Given the description of an element on the screen output the (x, y) to click on. 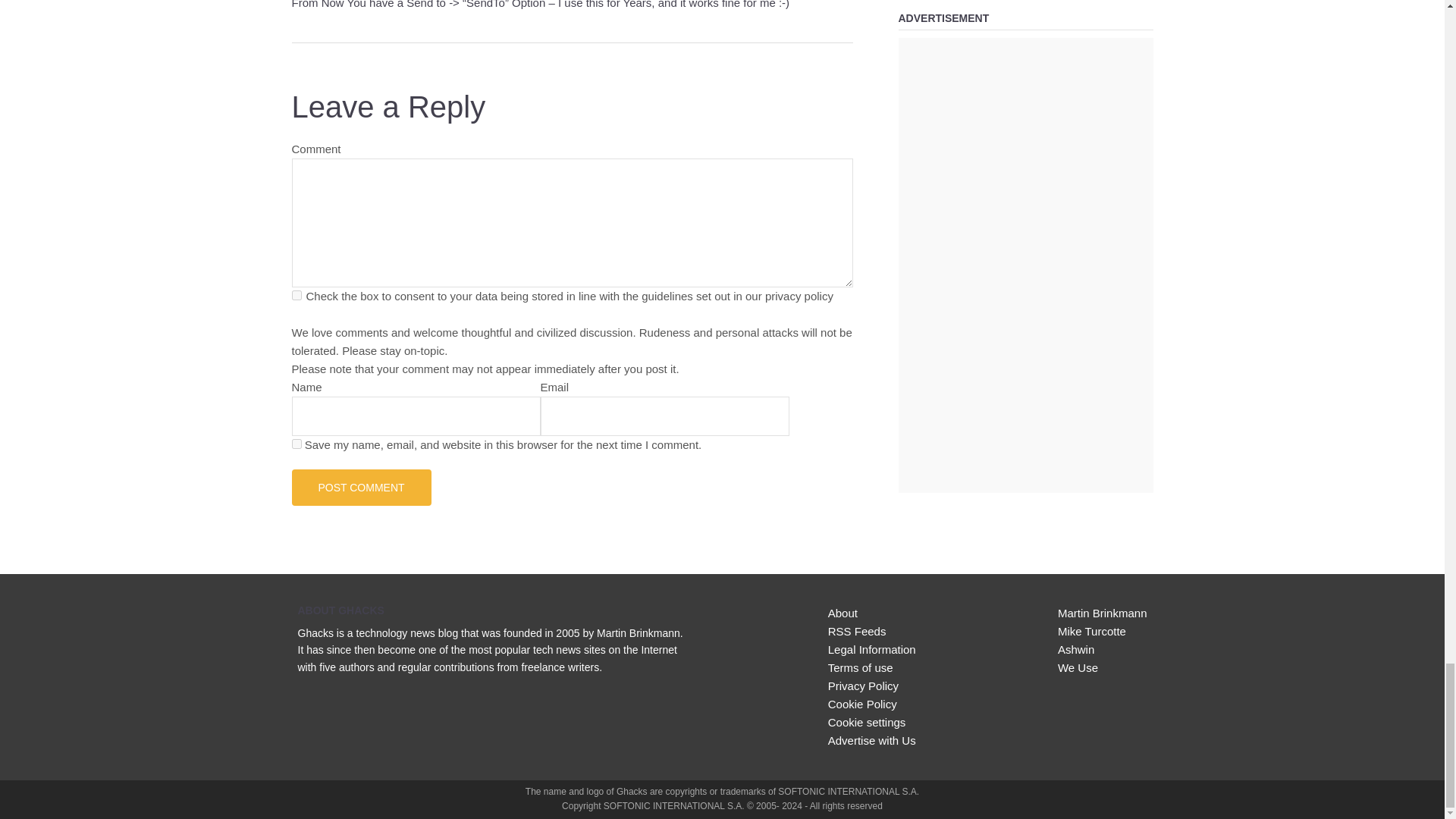
yes (296, 443)
Post Comment (360, 487)
privacy-key (296, 295)
